Given the description of an element on the screen output the (x, y) to click on. 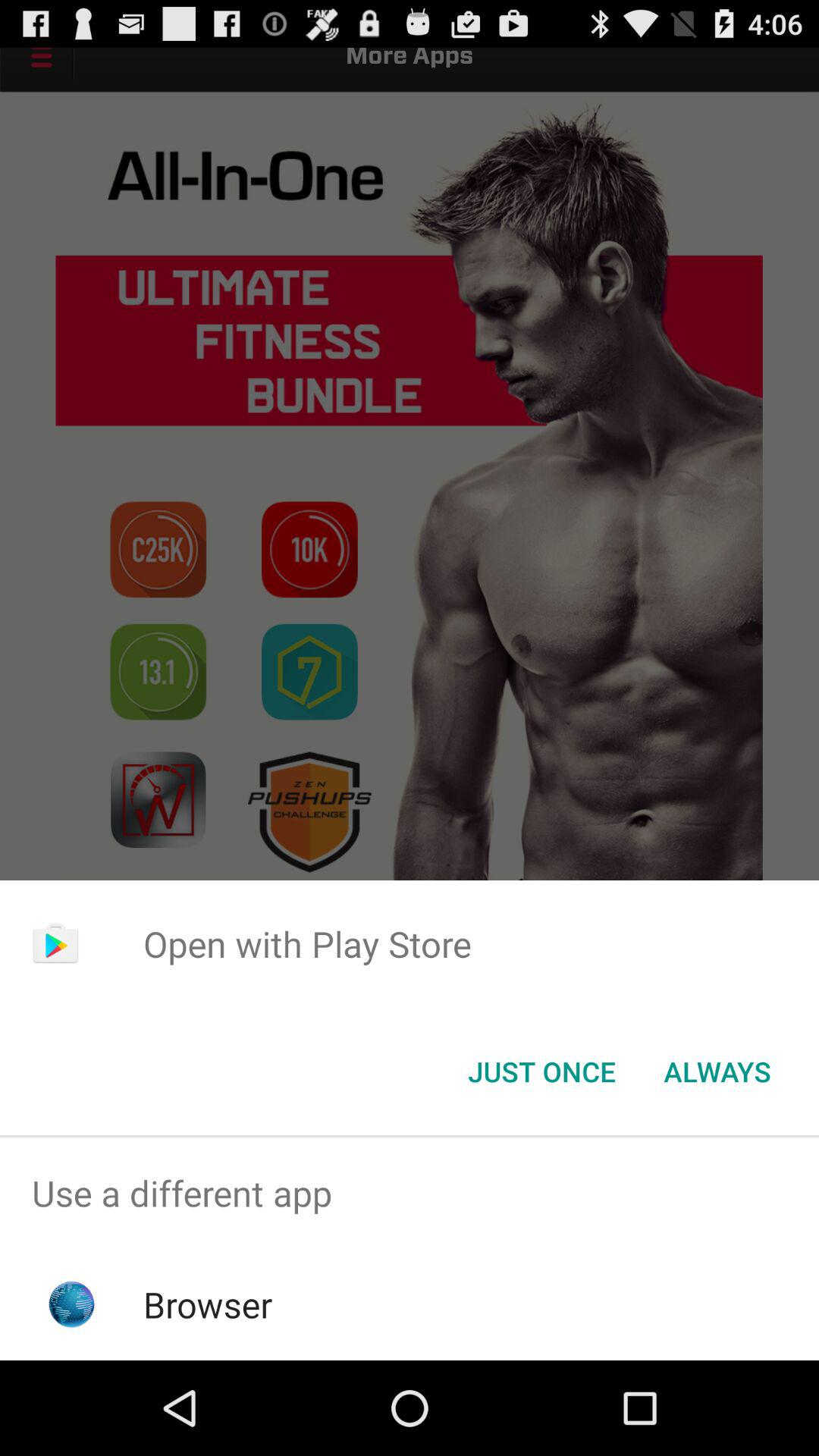
swipe to always icon (717, 1071)
